Given the description of an element on the screen output the (x, y) to click on. 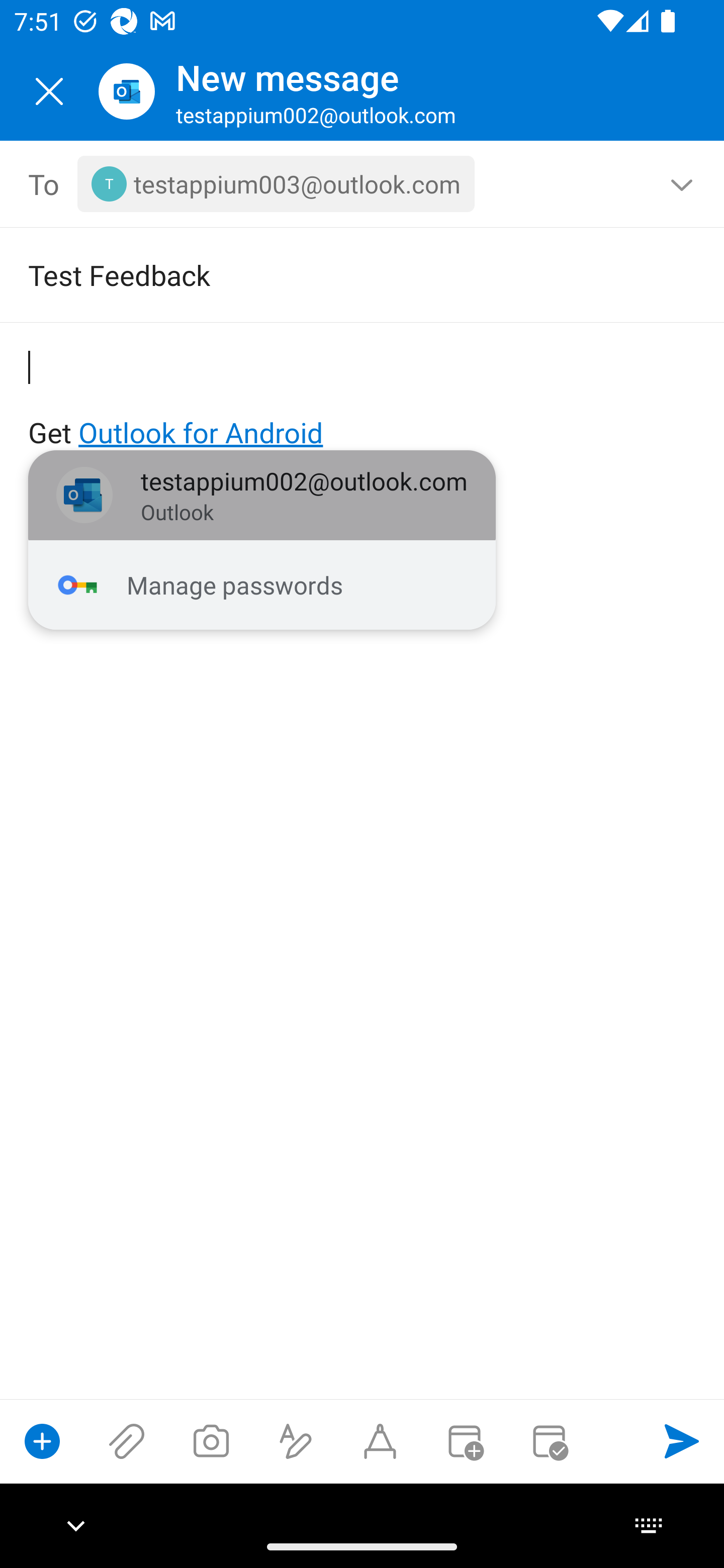
Outlook testappium002@outlook.com Outlook (261, 495)
Google Password Manager Manage passwords (261, 585)
